Given the description of an element on the screen output the (x, y) to click on. 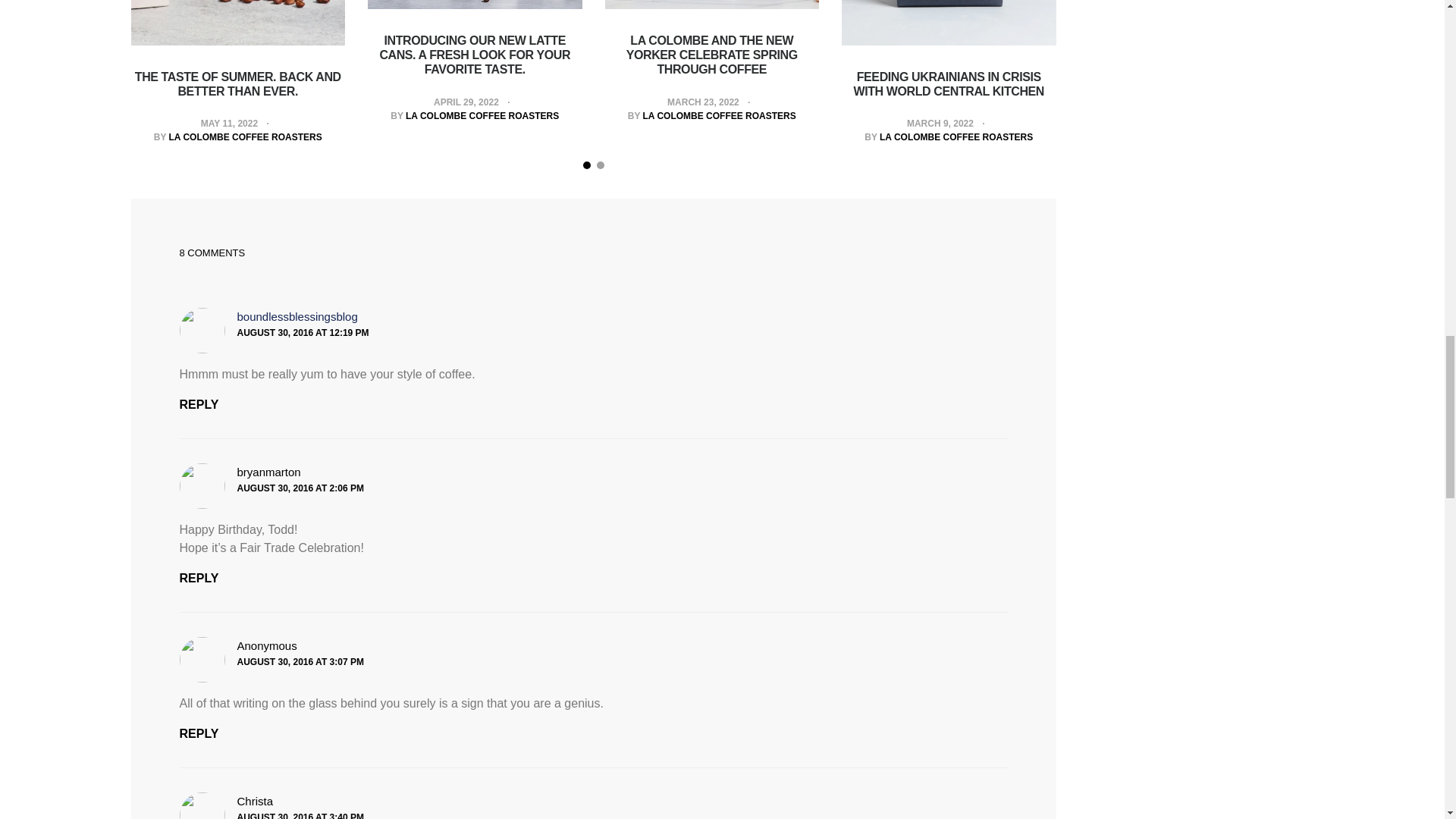
LA COLOMBE COFFEE ROASTERS (955, 136)
Posts by La Colombe Coffee Roasters (719, 115)
LA COLOMBE COFFEE ROASTERS (482, 115)
Posts by La Colombe Coffee Roasters (955, 136)
LA COLOMBE COFFEE ROASTERS (244, 136)
Posts by La Colombe Coffee Roasters (482, 115)
LA COLOMBE COFFEE ROASTERS (719, 115)
Posts by La Colombe Coffee Roasters (244, 136)
THE TASTE OF SUMMER. BACK AND BETTER THAN EVER. (237, 83)
FEEDING UKRAINIANS IN CRISIS WITH WORLD CENTRAL KITCHEN (949, 83)
